Given the description of an element on the screen output the (x, y) to click on. 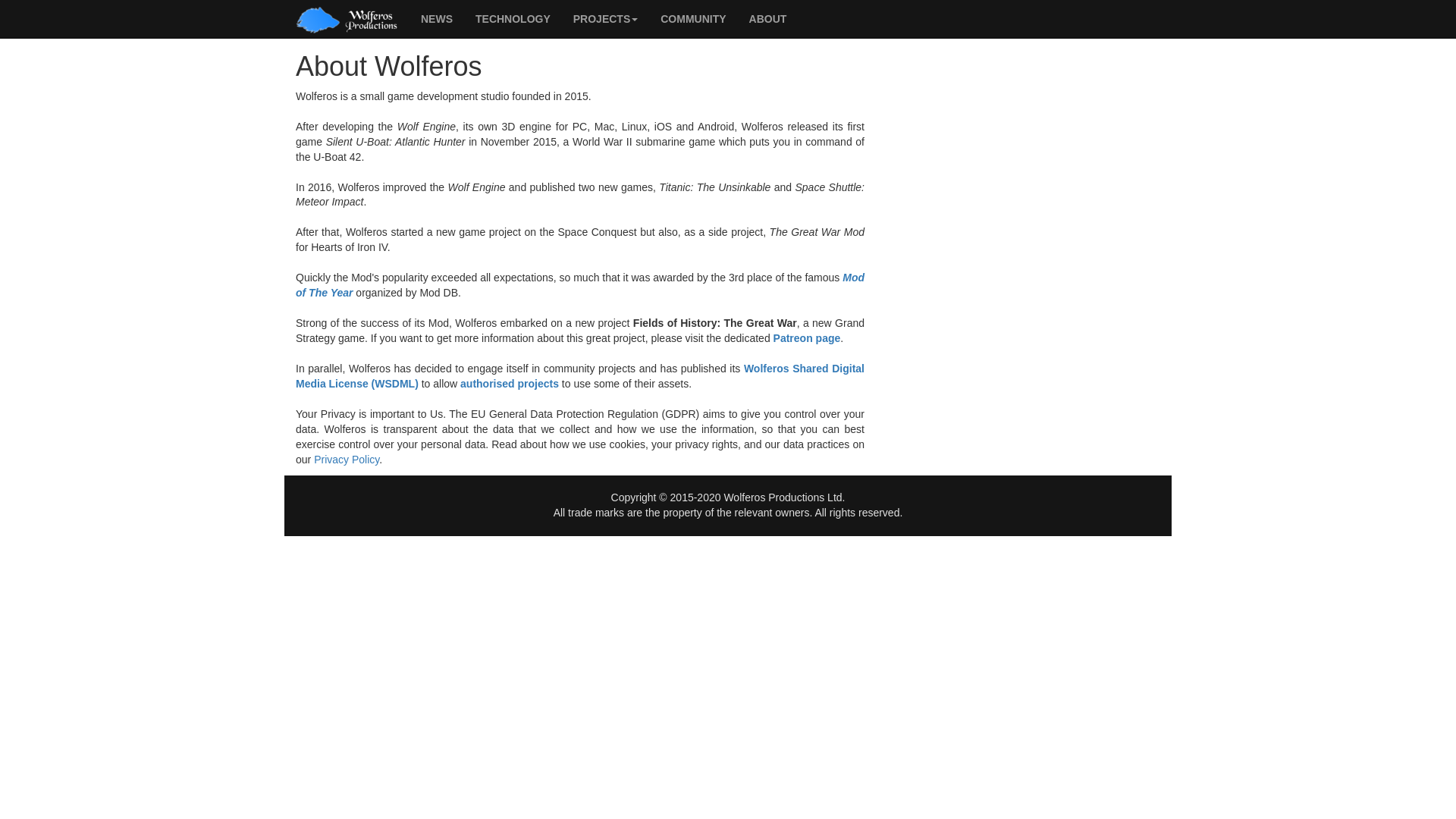
TECHNOLOGY (513, 18)
NEWS (436, 18)
Patreon page (807, 337)
authorised projects (509, 383)
PROJECTS (605, 18)
Privacy Policy (346, 459)
Mod of The Year (579, 284)
ABOUT (767, 18)
COMMUNITY (692, 18)
